Given the description of an element on the screen output the (x, y) to click on. 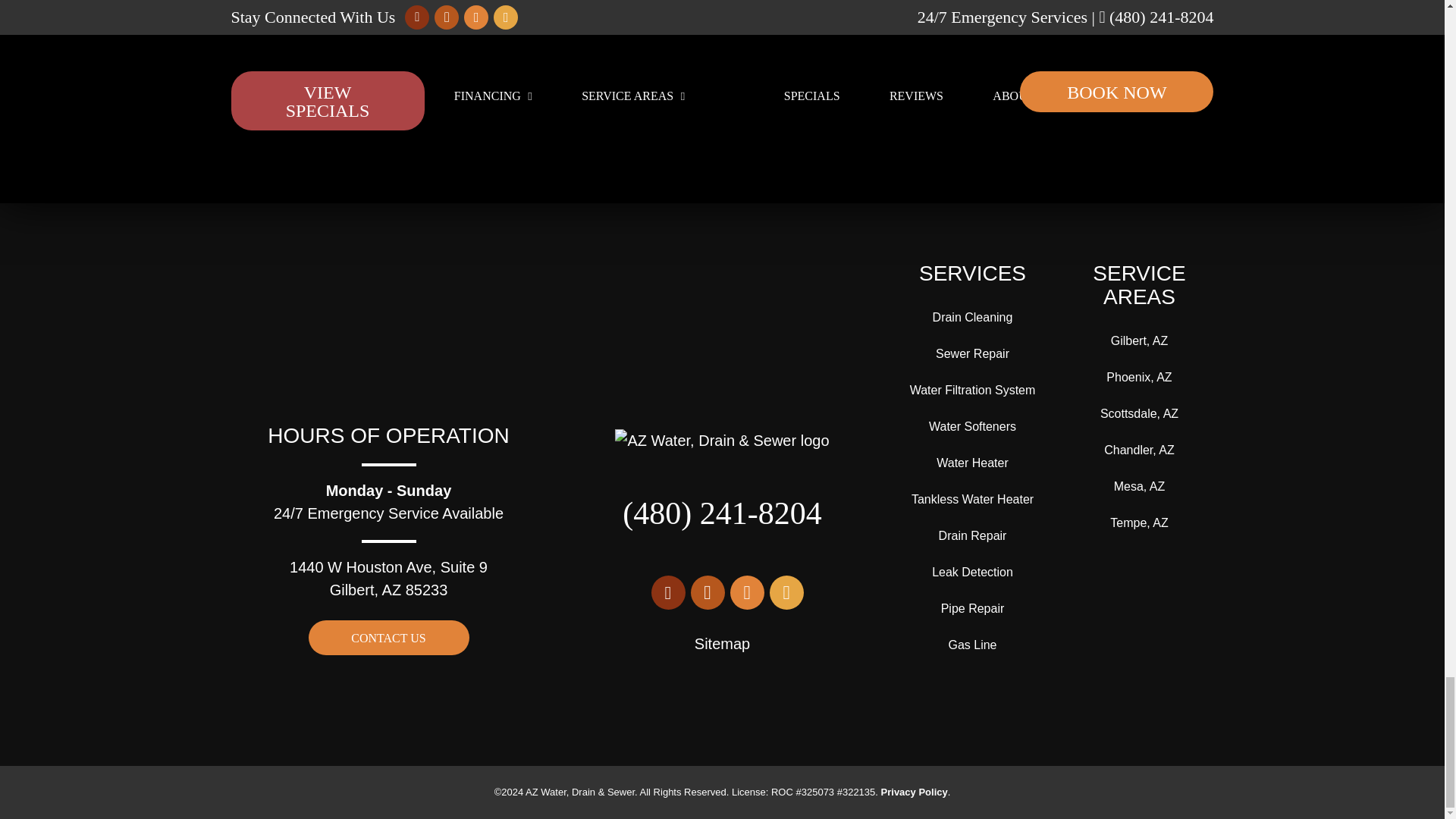
Yelp (745, 592)
Facebook (706, 592)
Instagram (785, 592)
Submit (722, 3)
Google (667, 592)
